Given the description of an element on the screen output the (x, y) to click on. 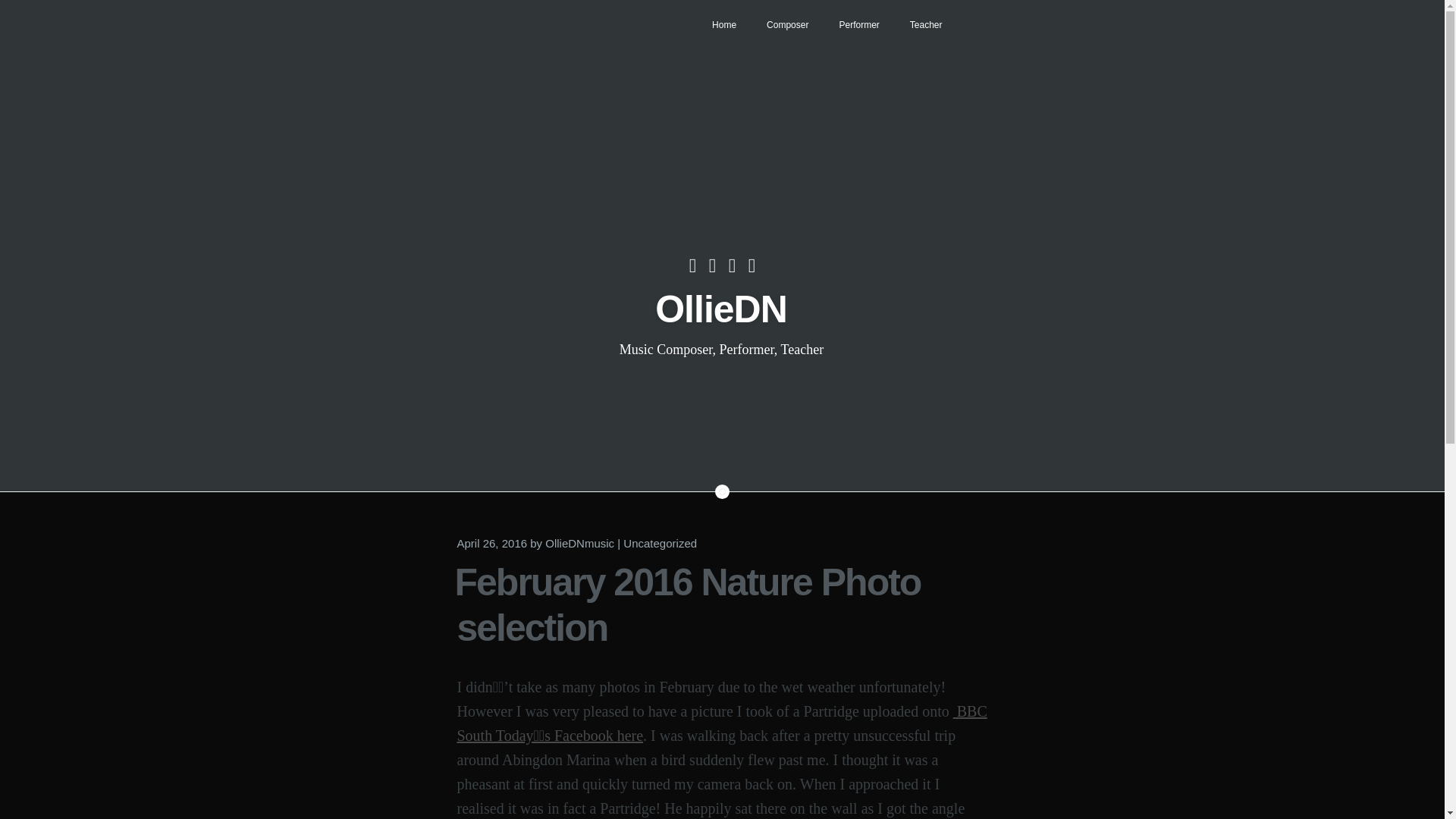
Composer (787, 24)
April 26, 2016 (492, 543)
Teacher (926, 24)
OllieDNmusic (579, 543)
Skip to content (472, 12)
Search (24, 9)
Performer (858, 24)
February 2016 Nature Photo selection (687, 605)
OllieDN (721, 309)
Uncategorized (660, 543)
